Given the description of an element on the screen output the (x, y) to click on. 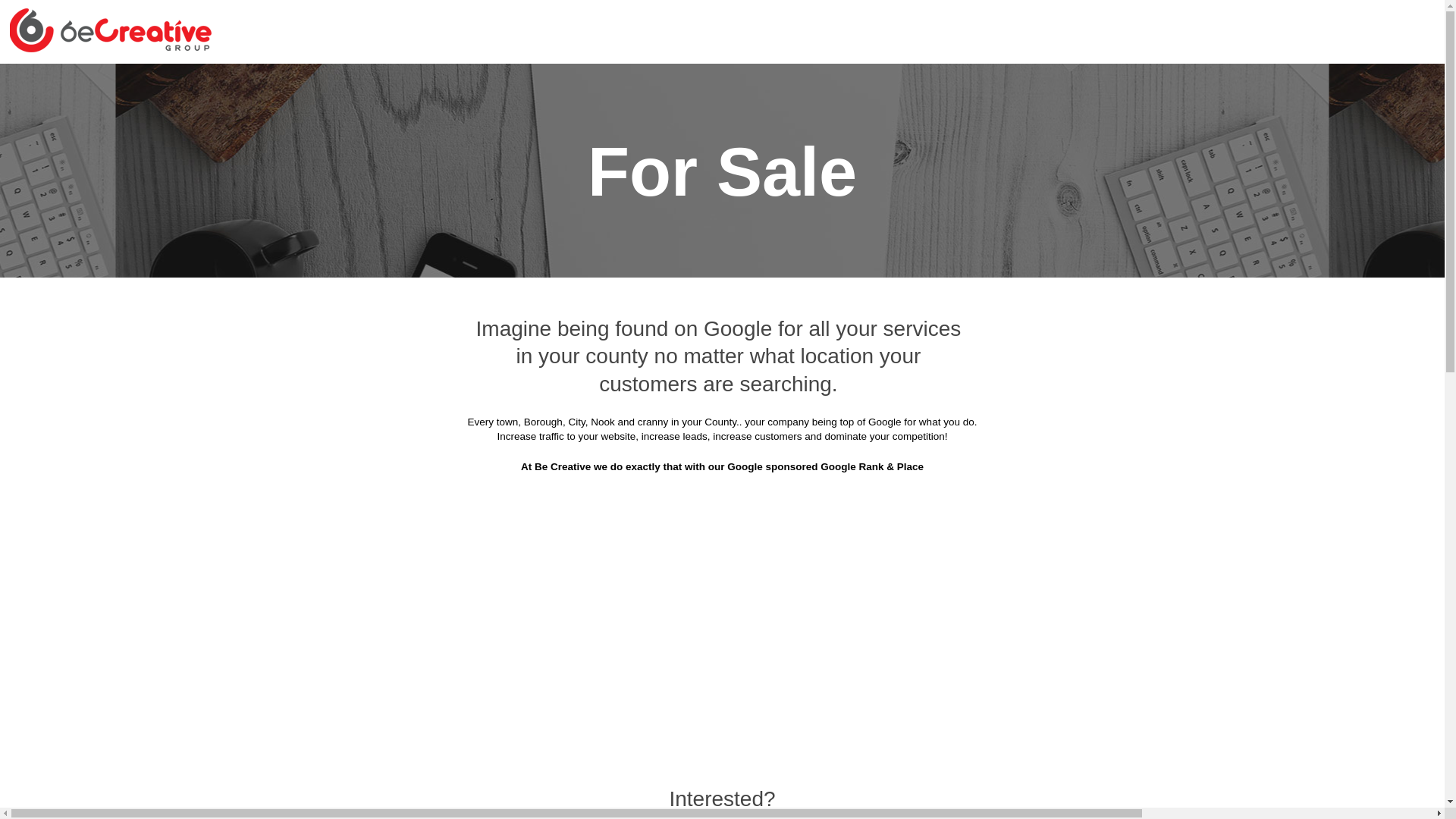
Aggregate Suppliers Callington Cornwall (834, 196)
Aggregate Suppliers Great Torrington Devon (1062, 309)
Groundworks and Plant Hire (358, 45)
Aggregate Suppliers Falmouth Cornwall (600, 309)
Aggregate Suppliers Ivybridge Devon (848, 383)
Aggregate Suppliers Budleigh Salterton Devon (582, 196)
Aggregate Suppliers Ashburton Devon (855, 83)
Aggregate Suppliers Devon (660, 83)
Aggregate Suppliers Cornwall (488, 83)
Aggregate Suppliers Kingsteignton Devon (388, 422)
Aggregate Suppliers Kingsbridge Devon (1074, 383)
Aggregate Suppliers Axminster Devon (1080, 83)
Aggregate Suppliers Bovey Tracey Devon (1070, 121)
Aggregate Suppliers Launceston Cornwall (632, 422)
Aggregate Suppliers Ilfracombe Devon (625, 383)
